Given the description of an element on the screen output the (x, y) to click on. 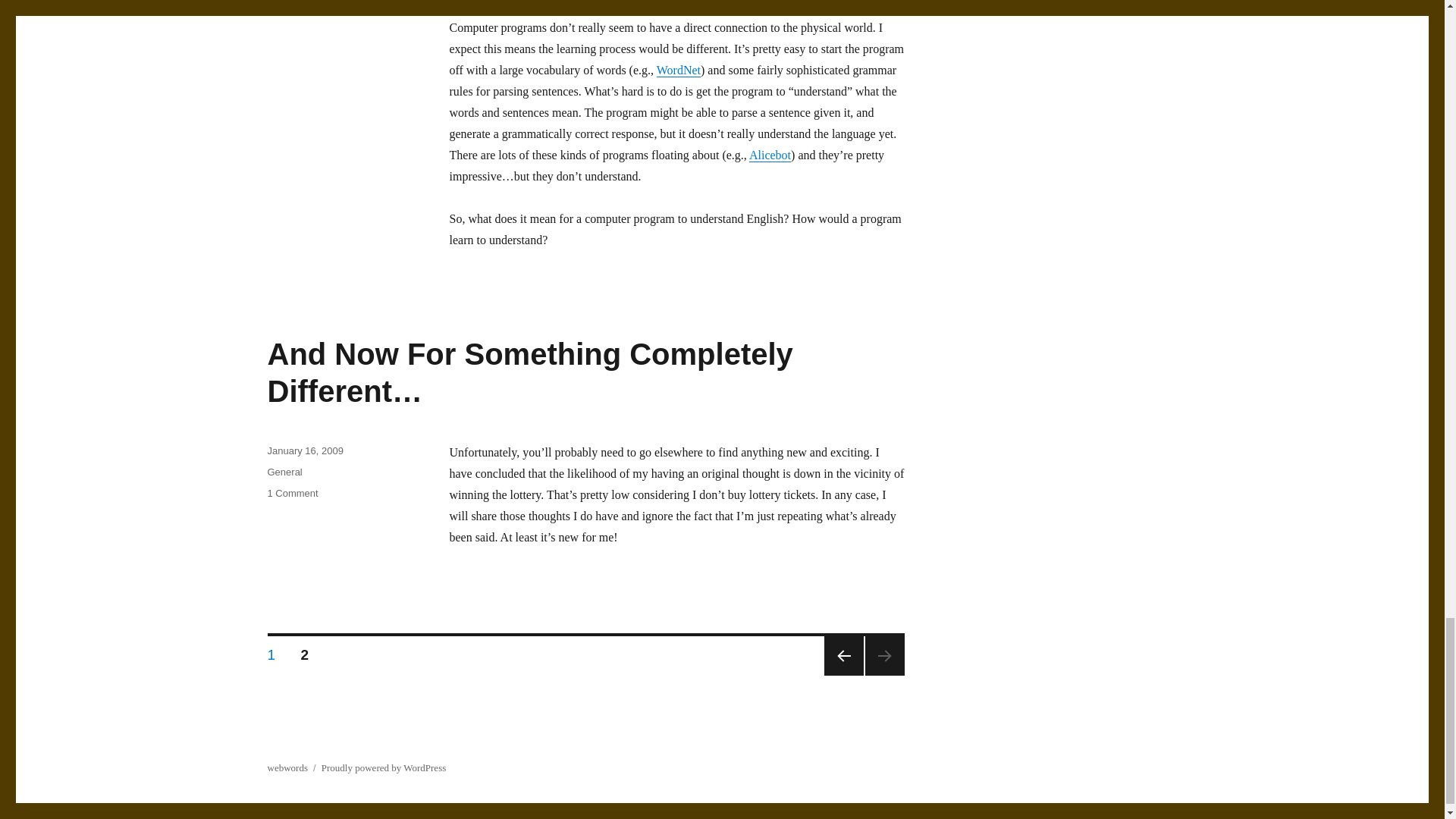
January 16, 2009 (304, 450)
General (283, 471)
Alicebot (769, 154)
WordNet (678, 69)
